Given the description of an element on the screen output the (x, y) to click on. 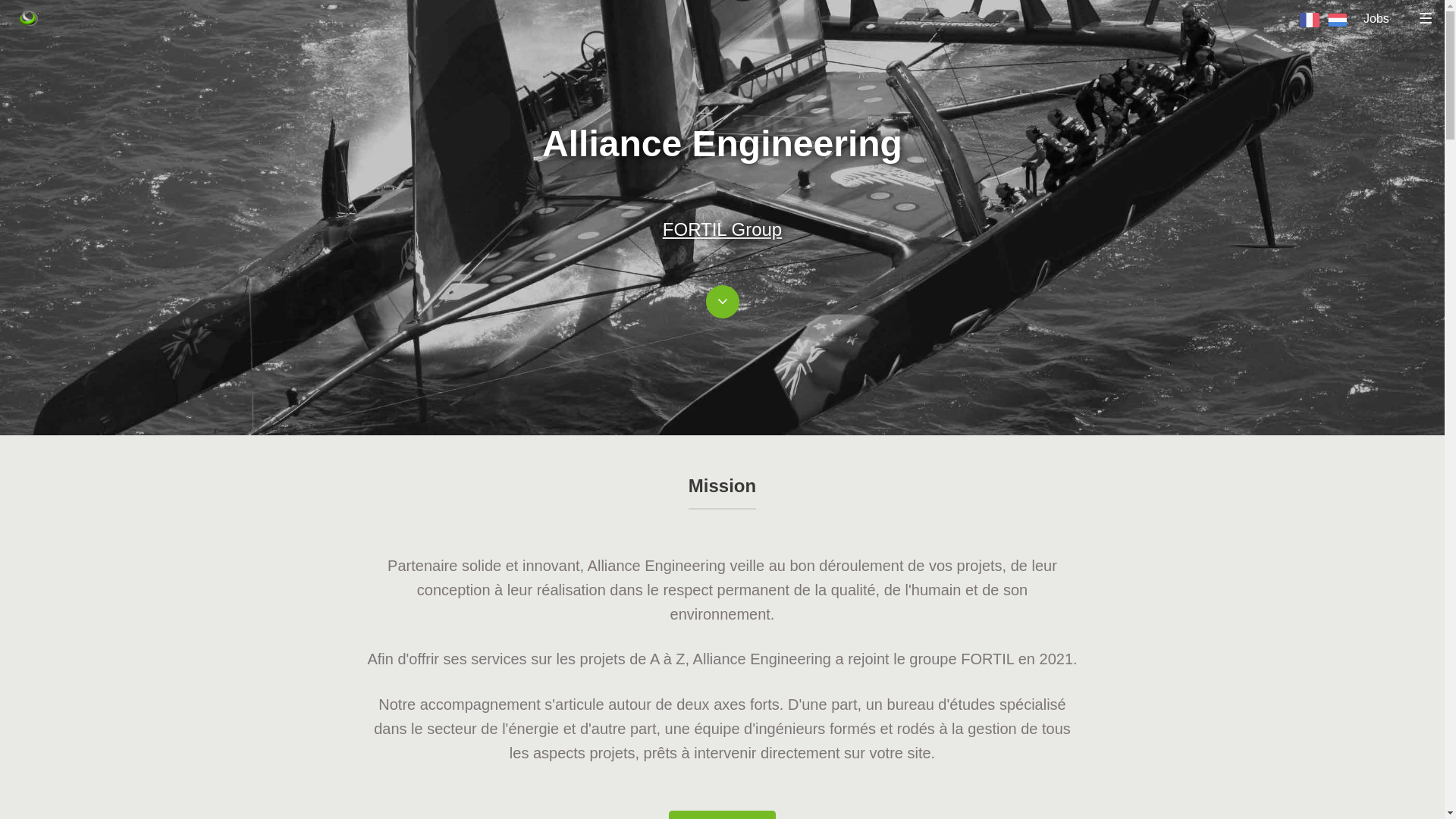
FORTIL Group Element type: text (721, 229)
Jobs Element type: text (1378, 31)
Nederlands Element type: text (1337, 19)
